Given the description of an element on the screen output the (x, y) to click on. 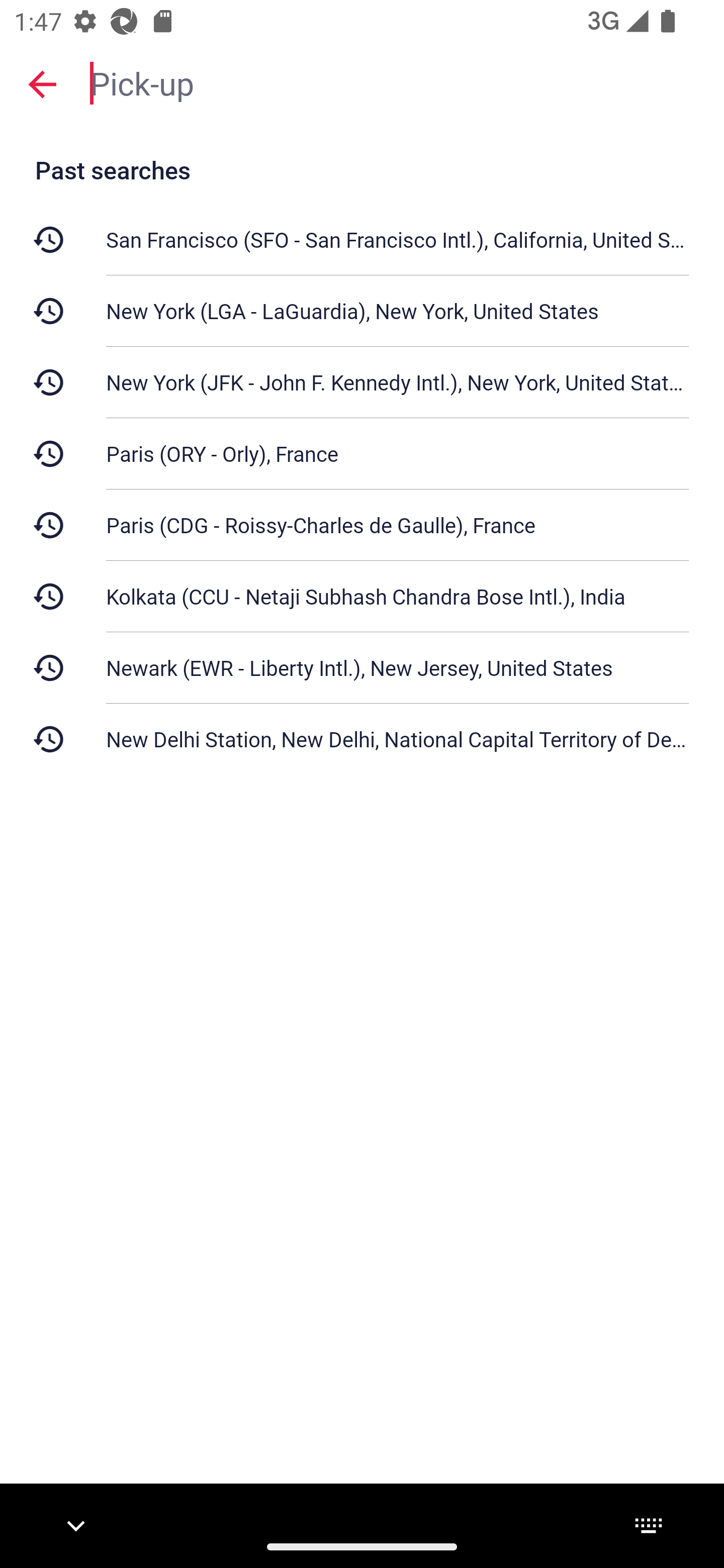
Close search screen (42, 84)
Pick-up,  (397, 82)
